Given the description of an element on the screen output the (x, y) to click on. 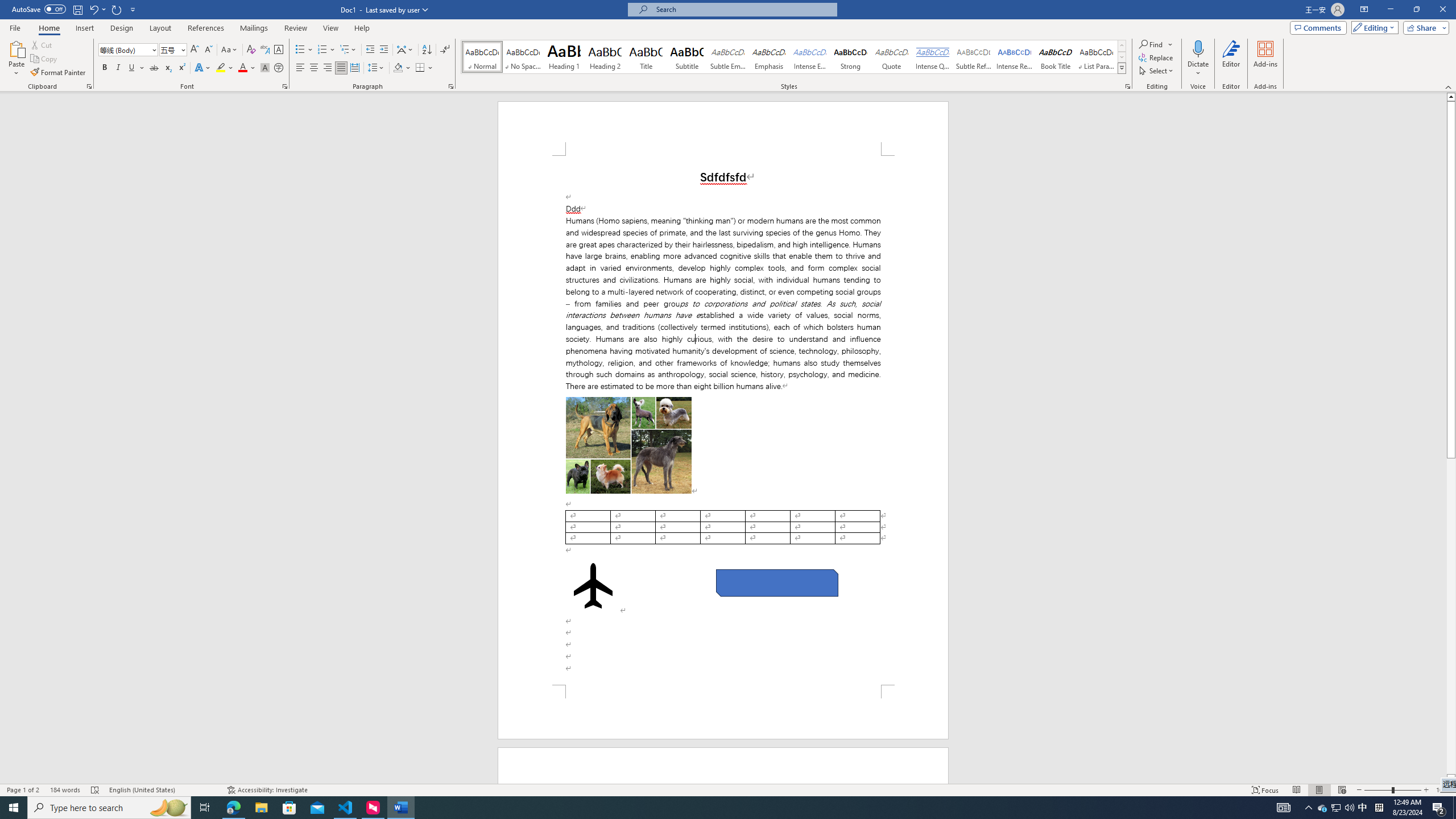
Strong (849, 56)
Align Left (300, 67)
Change Case (229, 49)
Rectangle: Diagonal Corners Snipped 2 (777, 582)
Row Down (1121, 56)
Enclose Characters... (278, 67)
Subtle Reference (973, 56)
Paragraph... (450, 85)
Class: MsoCommandBar (728, 789)
